Given the description of an element on the screen output the (x, y) to click on. 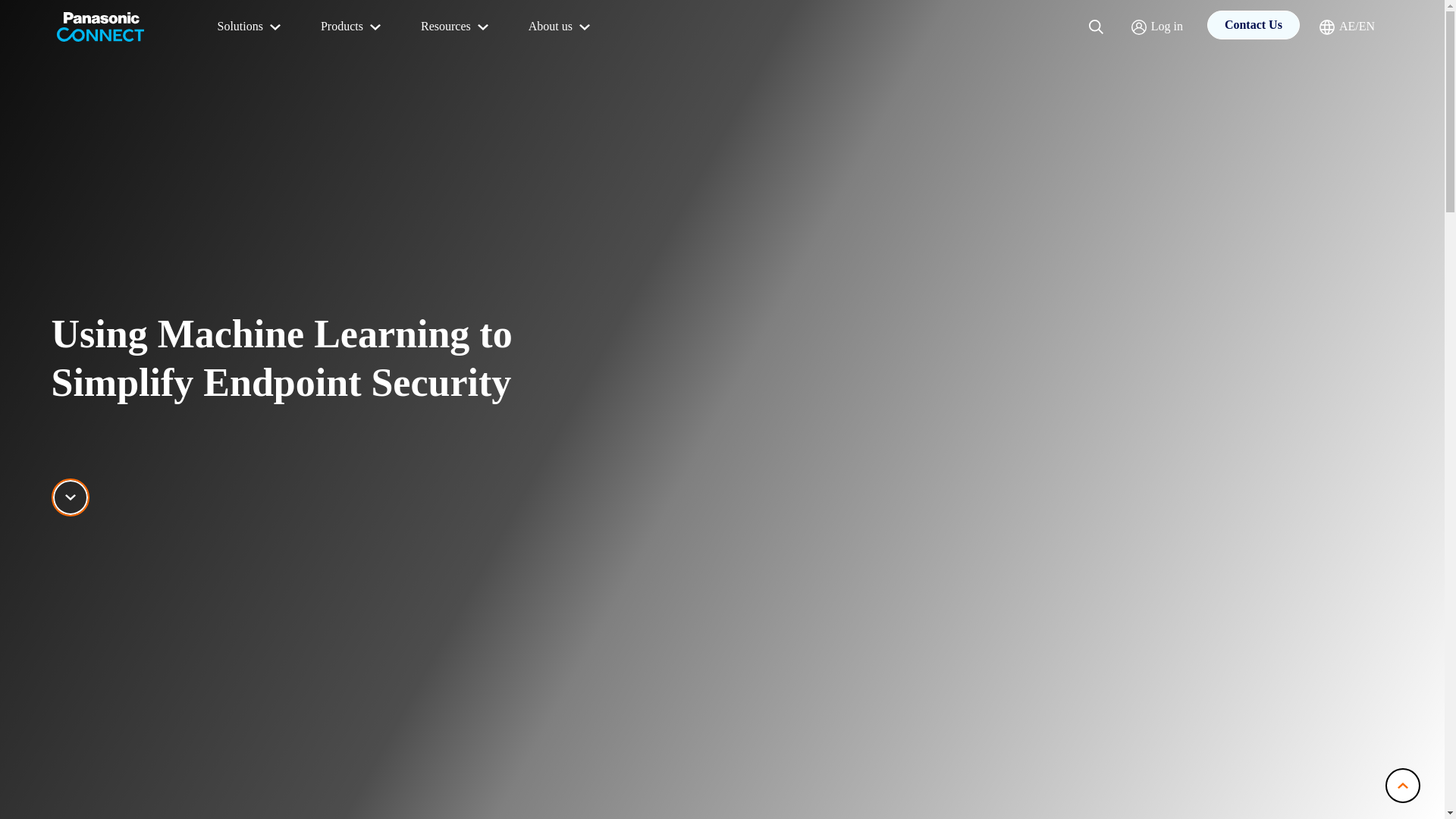
Solutions (250, 26)
Products (352, 26)
About us (560, 26)
Resources (455, 26)
